Given the description of an element on the screen output the (x, y) to click on. 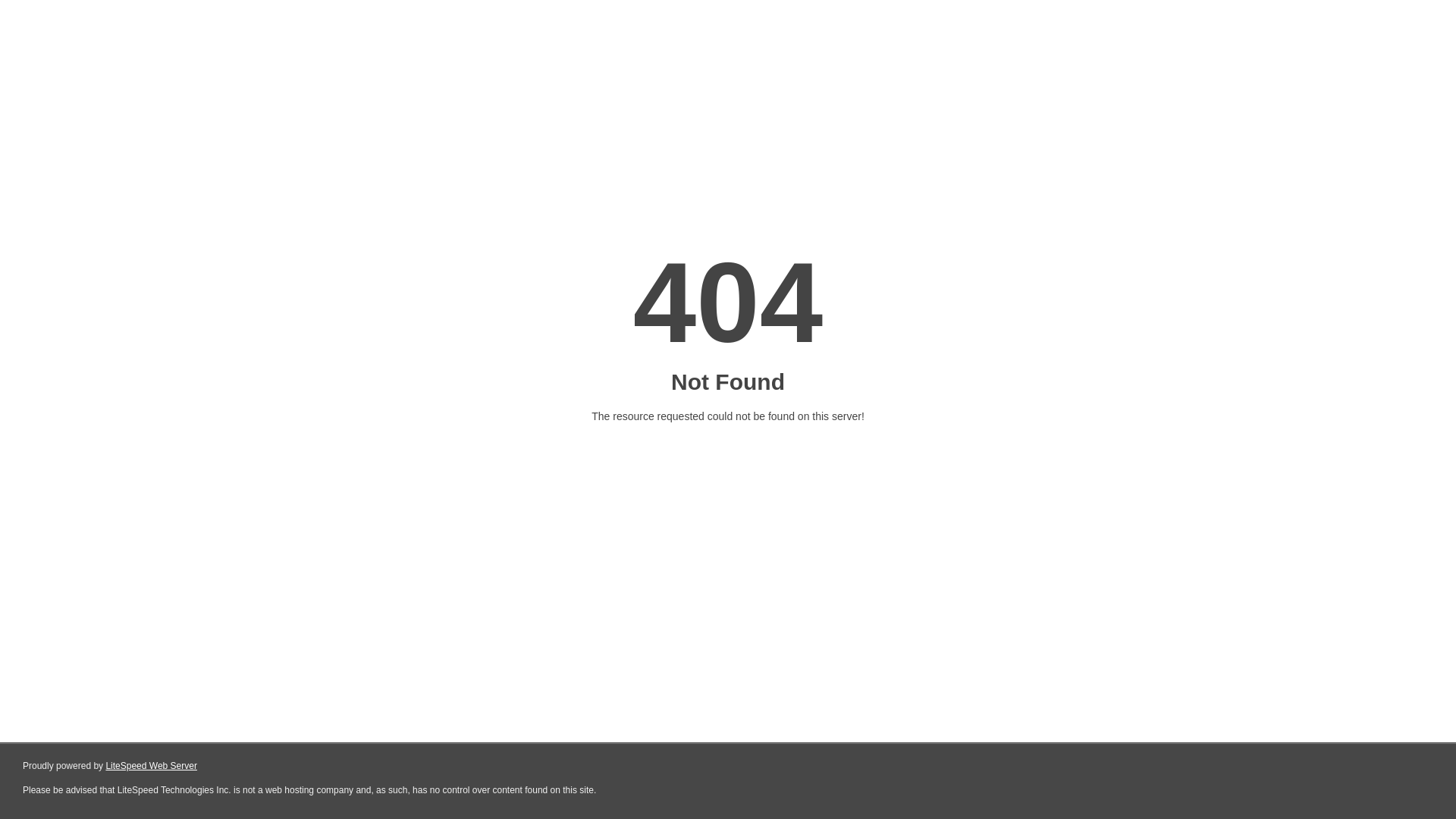
LiteSpeed Web Server Element type: text (151, 765)
